Given the description of an element on the screen output the (x, y) to click on. 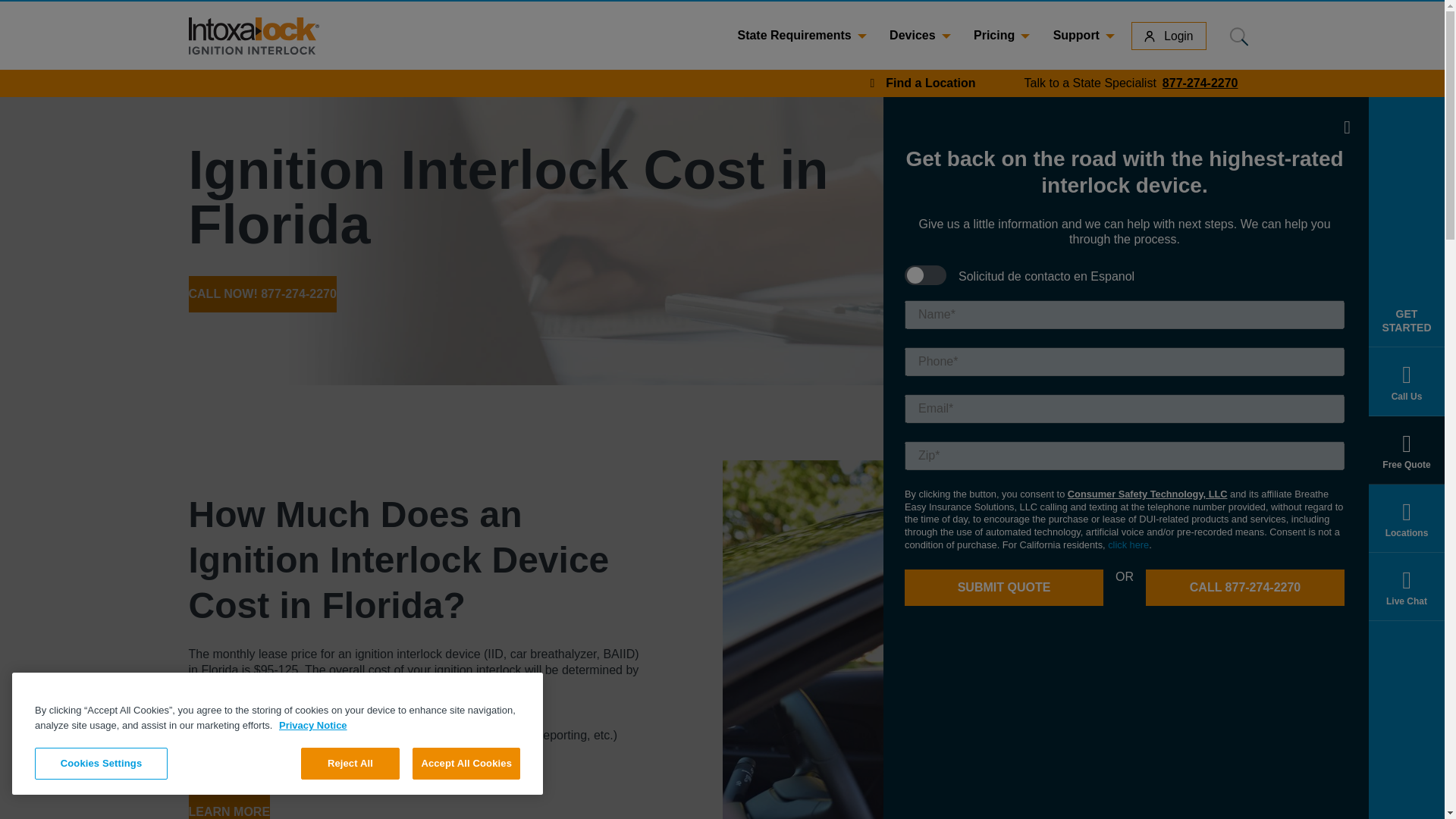
Find a Location (923, 83)
State Privacy Notices (1131, 83)
Learn More About IID Costs in Florida (1128, 543)
State Requirements (228, 811)
